Given the description of an element on the screen output the (x, y) to click on. 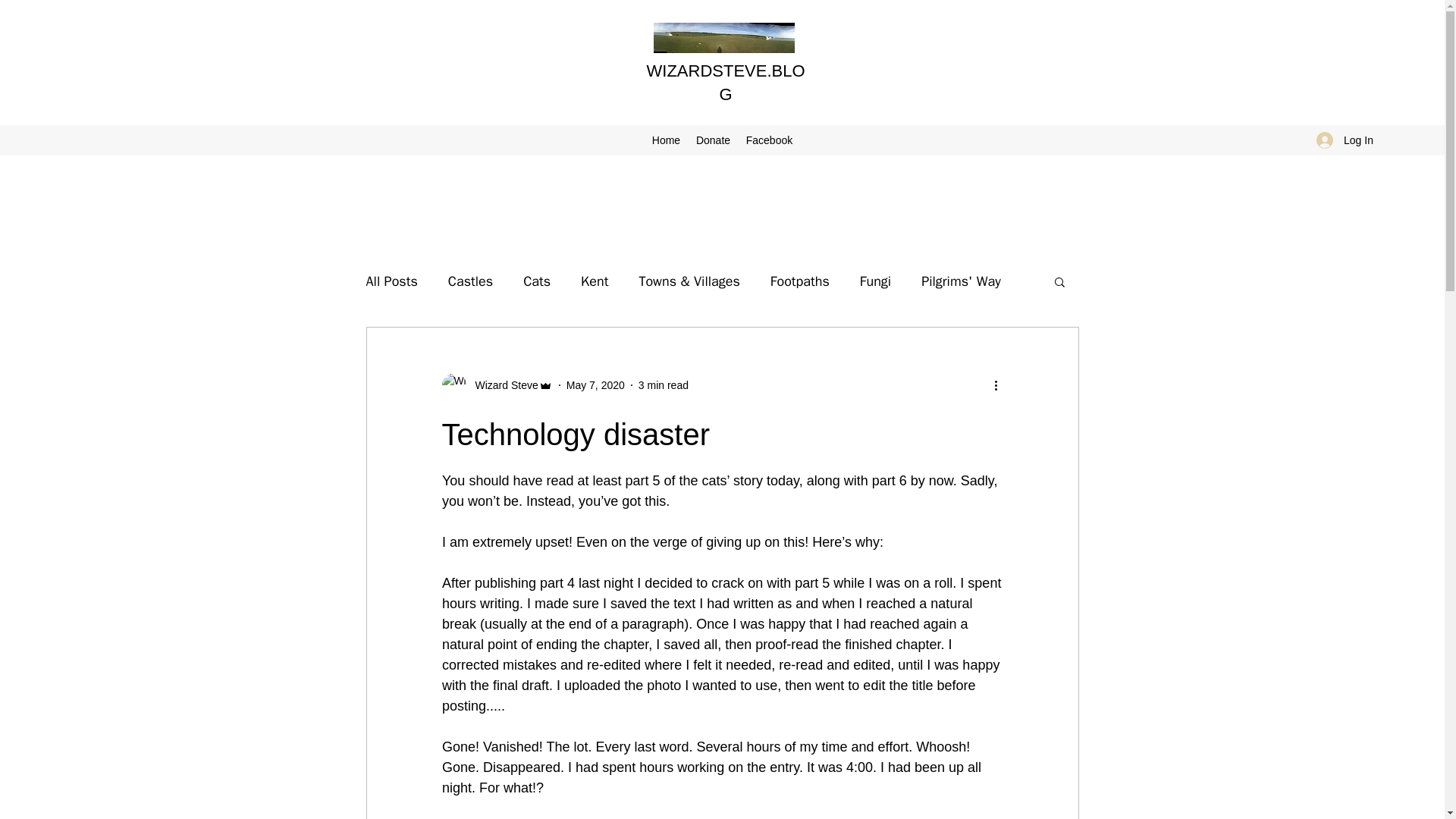
Fungi (875, 280)
Wizard Steve (496, 385)
Castles (470, 280)
May 7, 2020 (595, 385)
Log In (1345, 139)
All Posts (390, 280)
Donate (712, 139)
Kent (594, 280)
WIZARDSTEVE.BLOG (725, 82)
Facebook (768, 139)
